Given the description of an element on the screen output the (x, y) to click on. 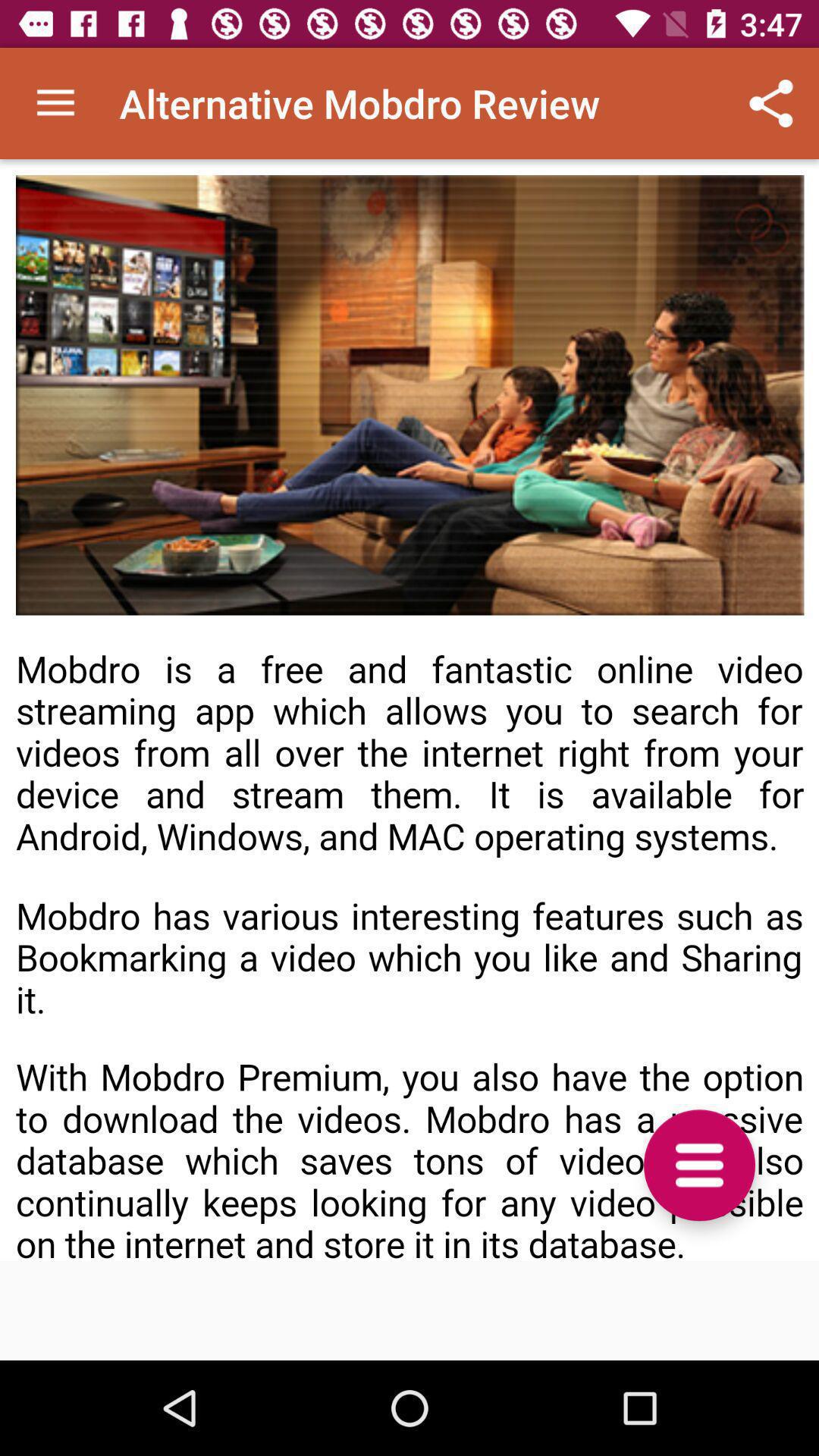
open menu (699, 1165)
